Given the description of an element on the screen output the (x, y) to click on. 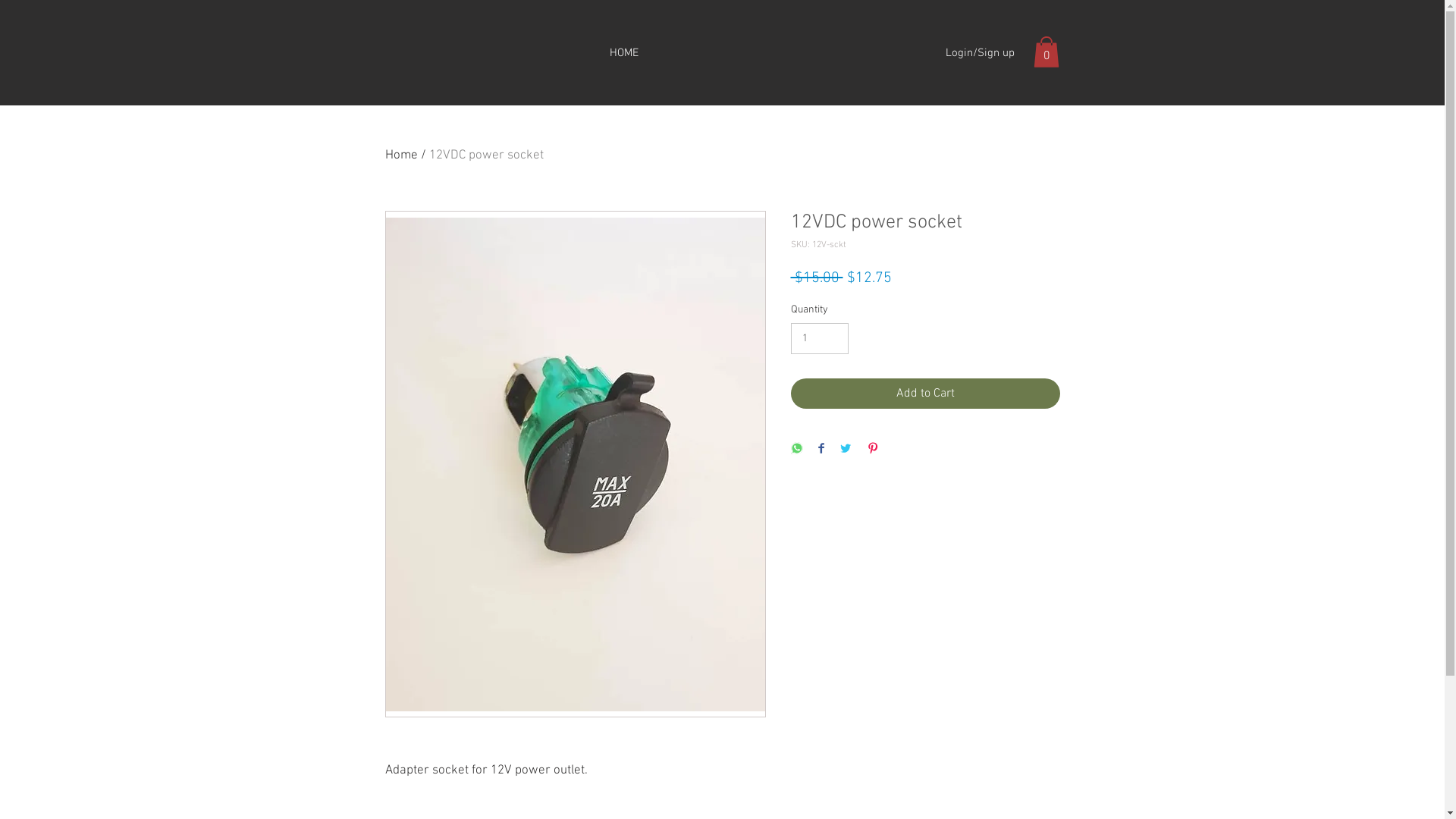
HOME Element type: text (623, 52)
GALLERY Element type: text (749, 310)
CONTACT Element type: text (825, 310)
SERVICES Element type: text (681, 310)
Add to Cart Element type: text (924, 393)
12VDC power socket Element type: text (486, 155)
Home Element type: text (401, 155)
HOME Element type: text (612, 310)
0 Element type: text (1045, 51)
Login/Sign up Element type: text (979, 53)
